Given the description of an element on the screen output the (x, y) to click on. 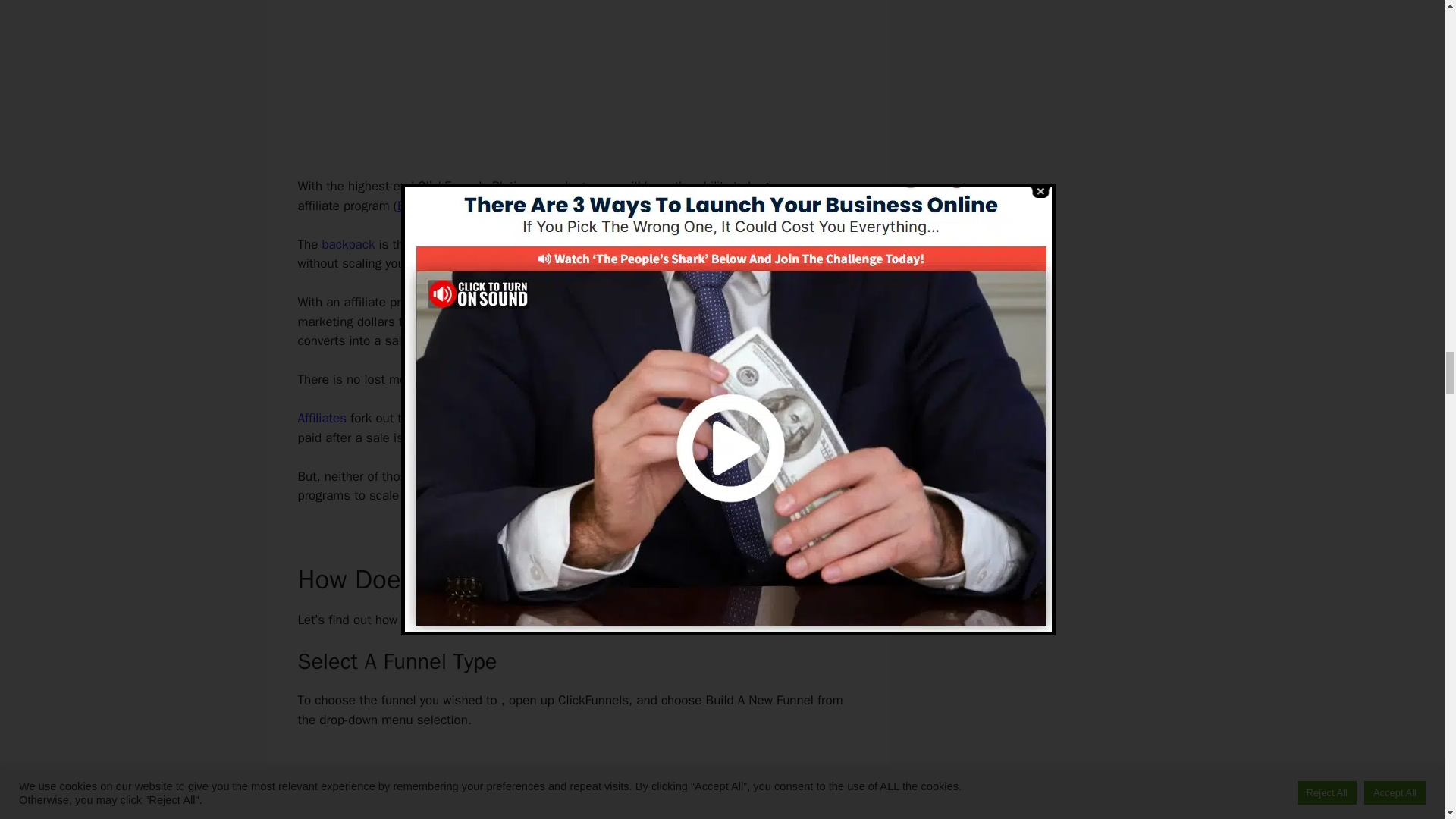
Affiliates (321, 417)
Backpack (424, 205)
backpack (347, 244)
